Given the description of an element on the screen output the (x, y) to click on. 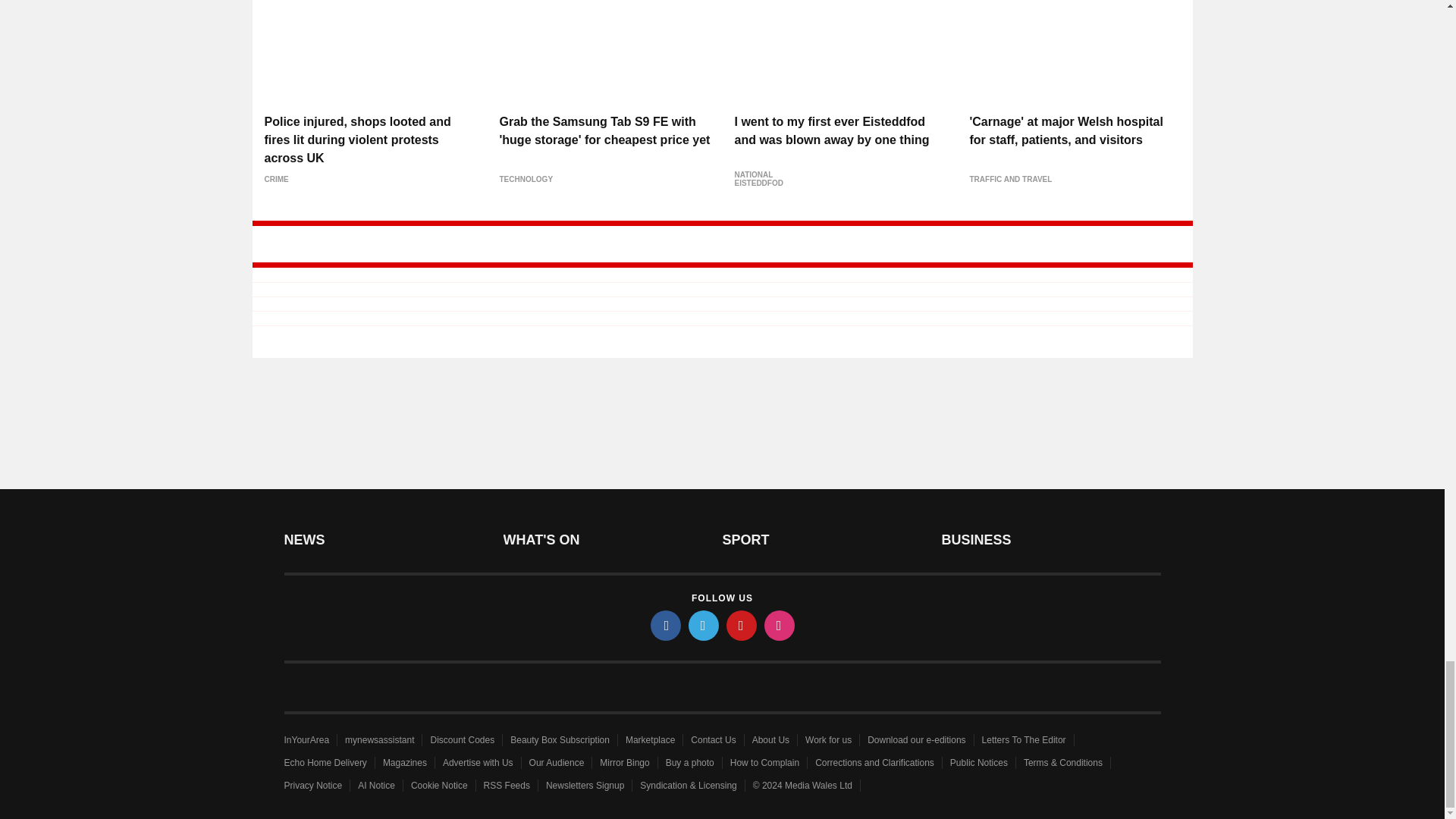
pinterest (741, 625)
twitter (703, 625)
facebook (665, 625)
instagram (779, 625)
